Given the description of an element on the screen output the (x, y) to click on. 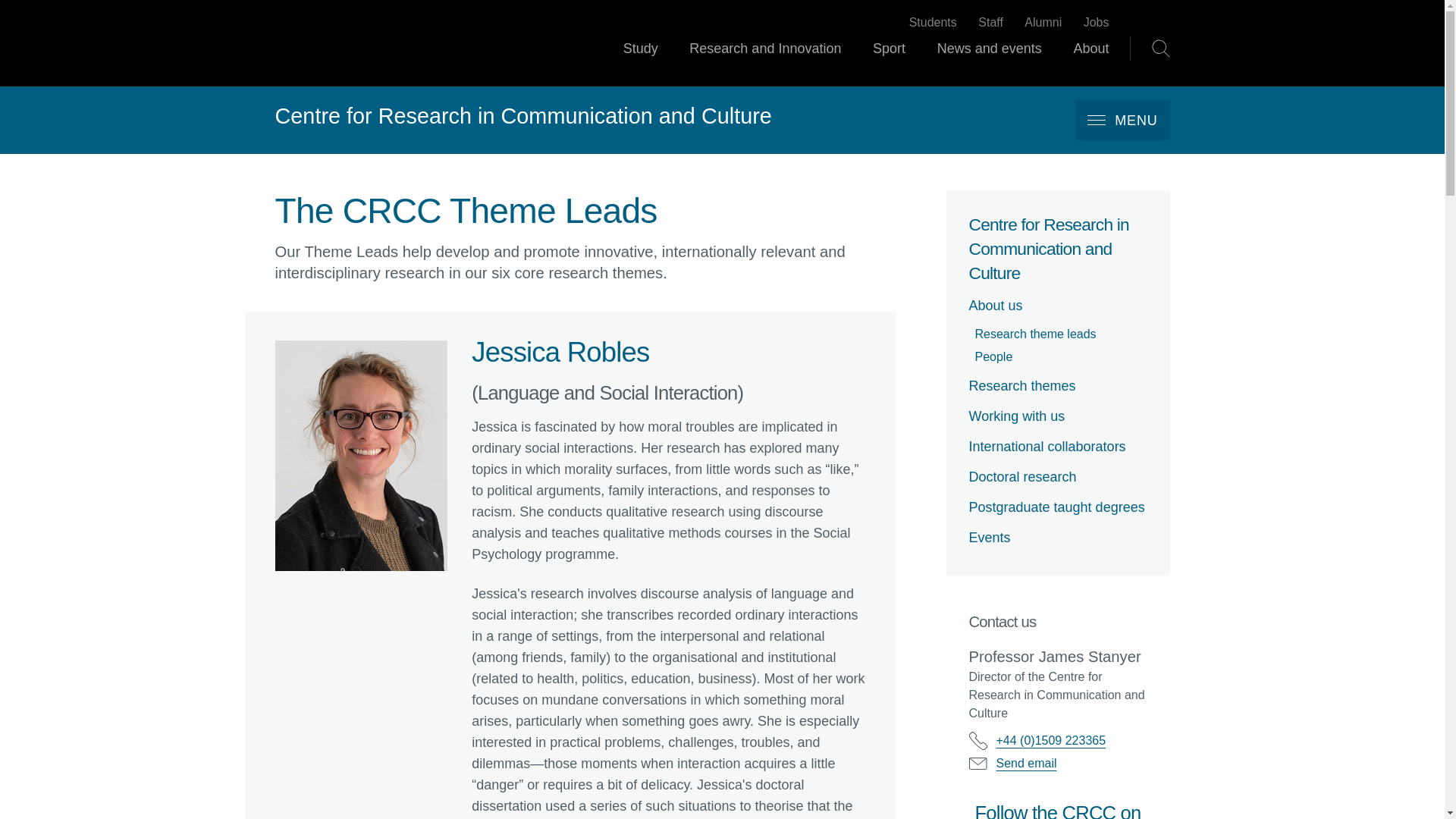
News and events (989, 61)
Centre for Research in Communication and Culture (1058, 248)
Staff (990, 22)
Jobs (1096, 22)
Alumni (1043, 22)
Research and Innovation (764, 61)
Toggle global search (1160, 48)
Loughborough University (350, 41)
About us (1058, 305)
Centre for Research in Communication and Culture (523, 116)
